Given the description of an element on the screen output the (x, y) to click on. 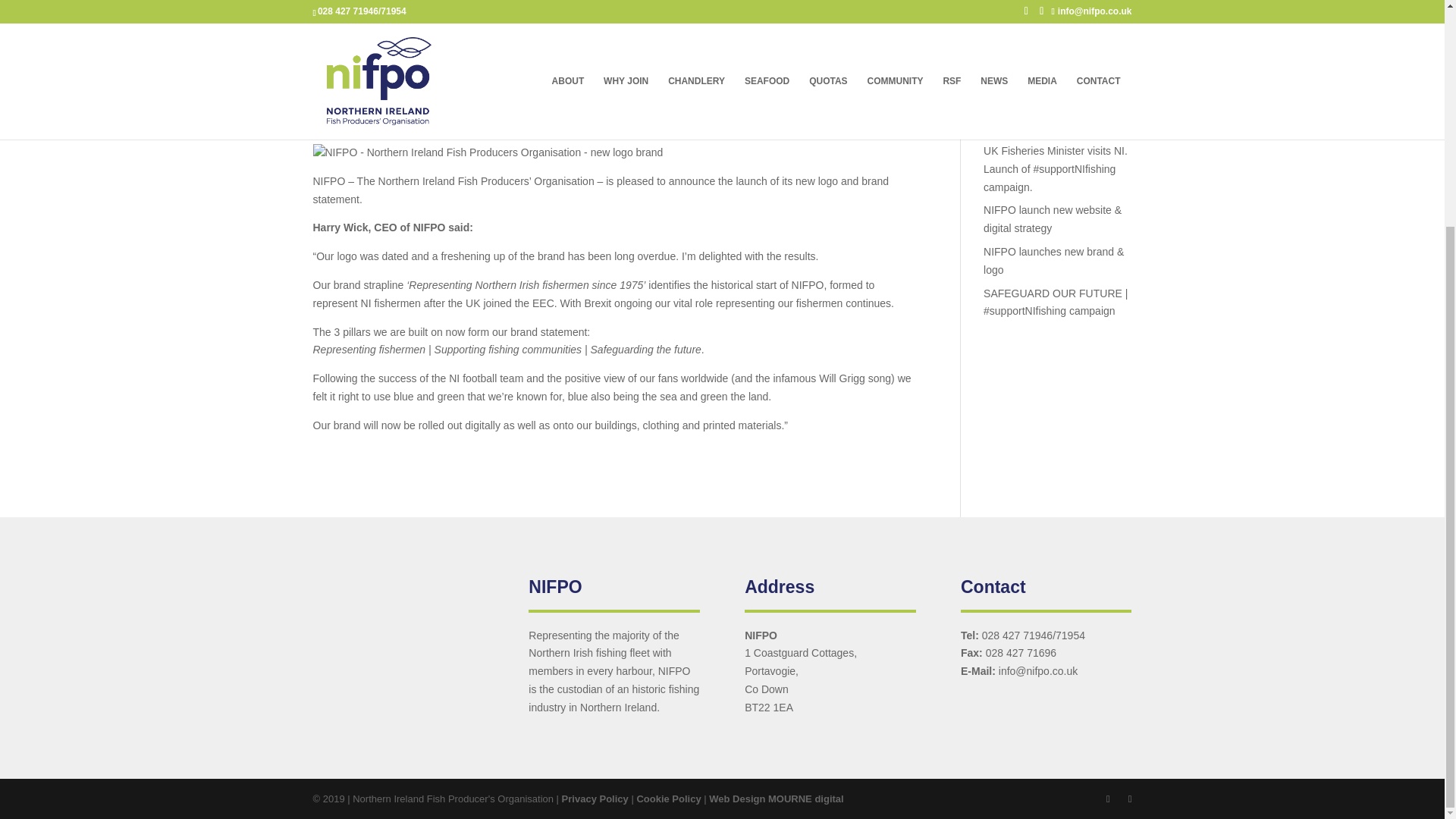
Web Design MOURNE digital (776, 798)
Cookie Policy (668, 798)
Privacy Policy (595, 798)
